Given the description of an element on the screen output the (x, y) to click on. 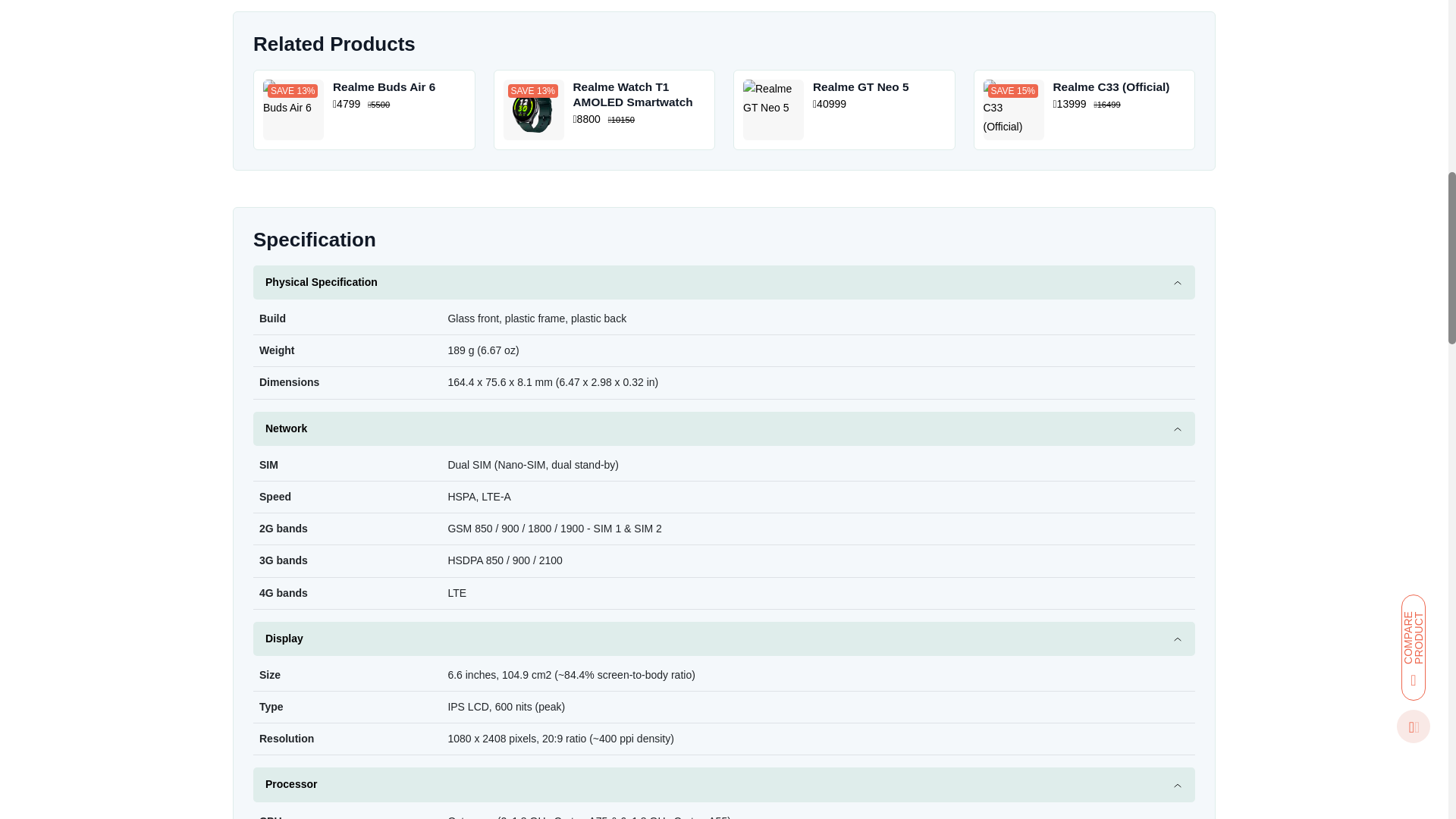
Buy now (1099, 32)
Realme Watch T1 AMOLED Smartwatch (603, 109)
Realme Buds Air 6 (364, 109)
Realme GT Neo 5 (844, 109)
